Given the description of an element on the screen output the (x, y) to click on. 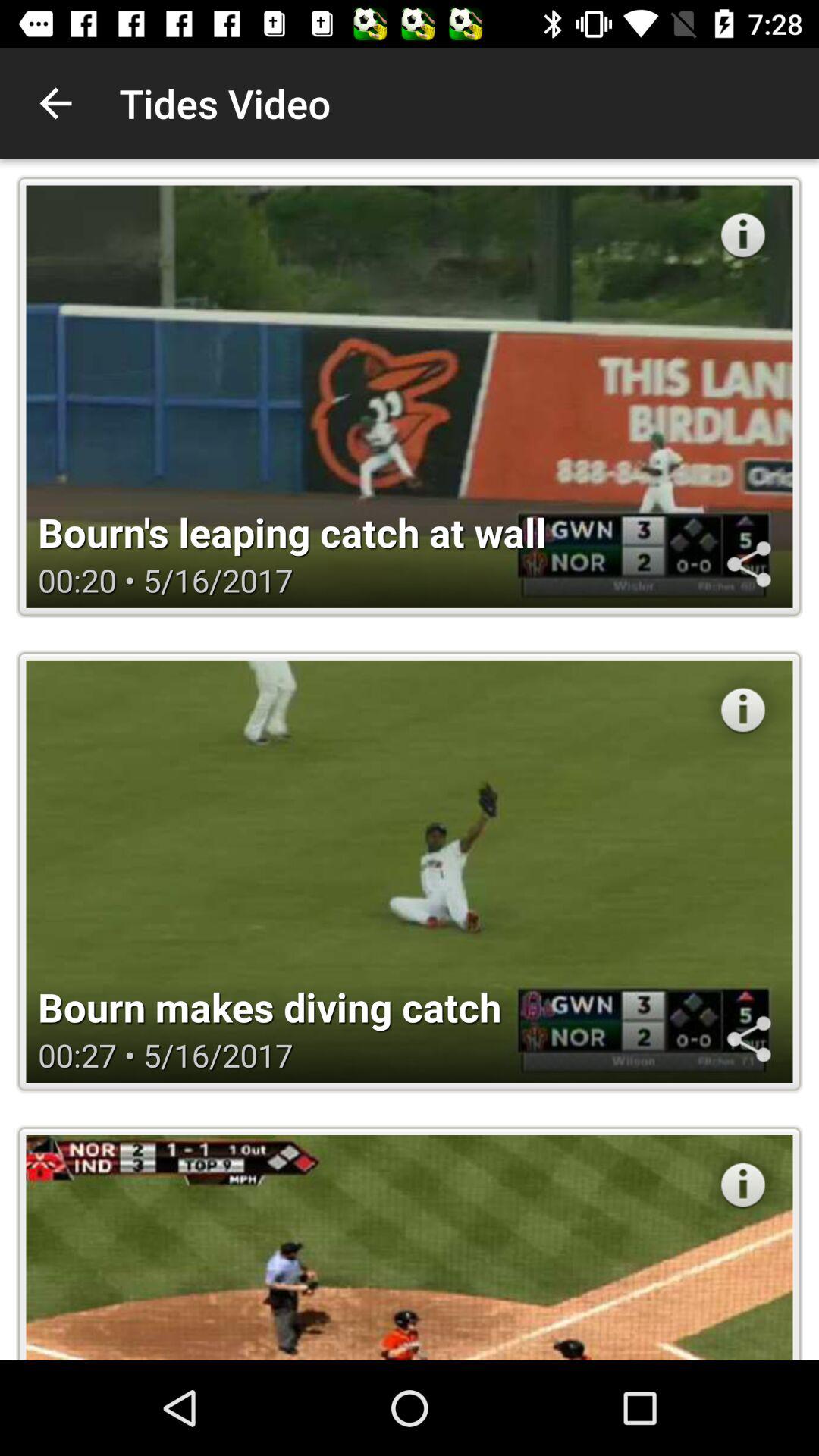
click for information (742, 234)
